Given the description of an element on the screen output the (x, y) to click on. 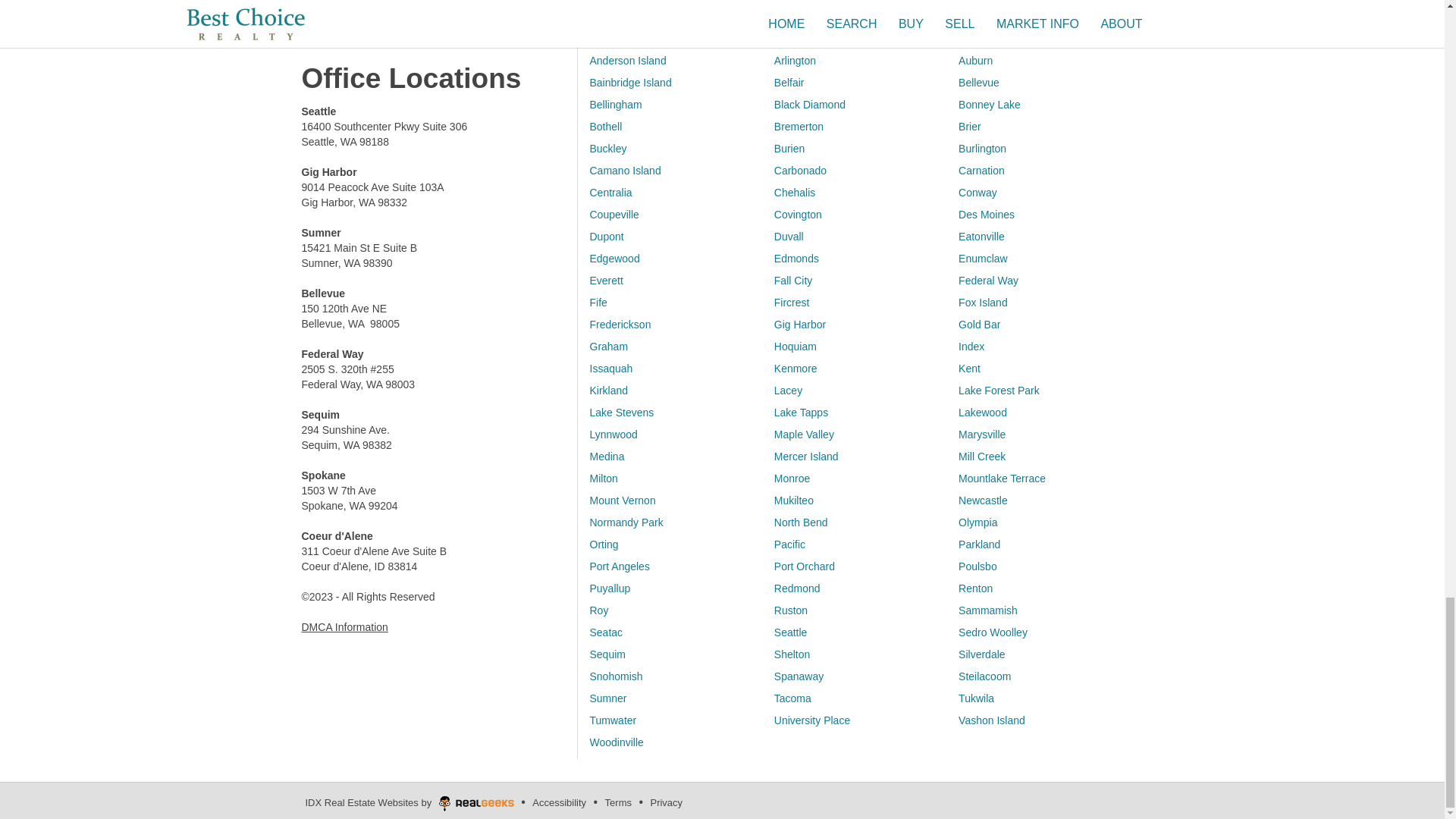
parks map (980, 95)
